Given the description of an element on the screen output the (x, y) to click on. 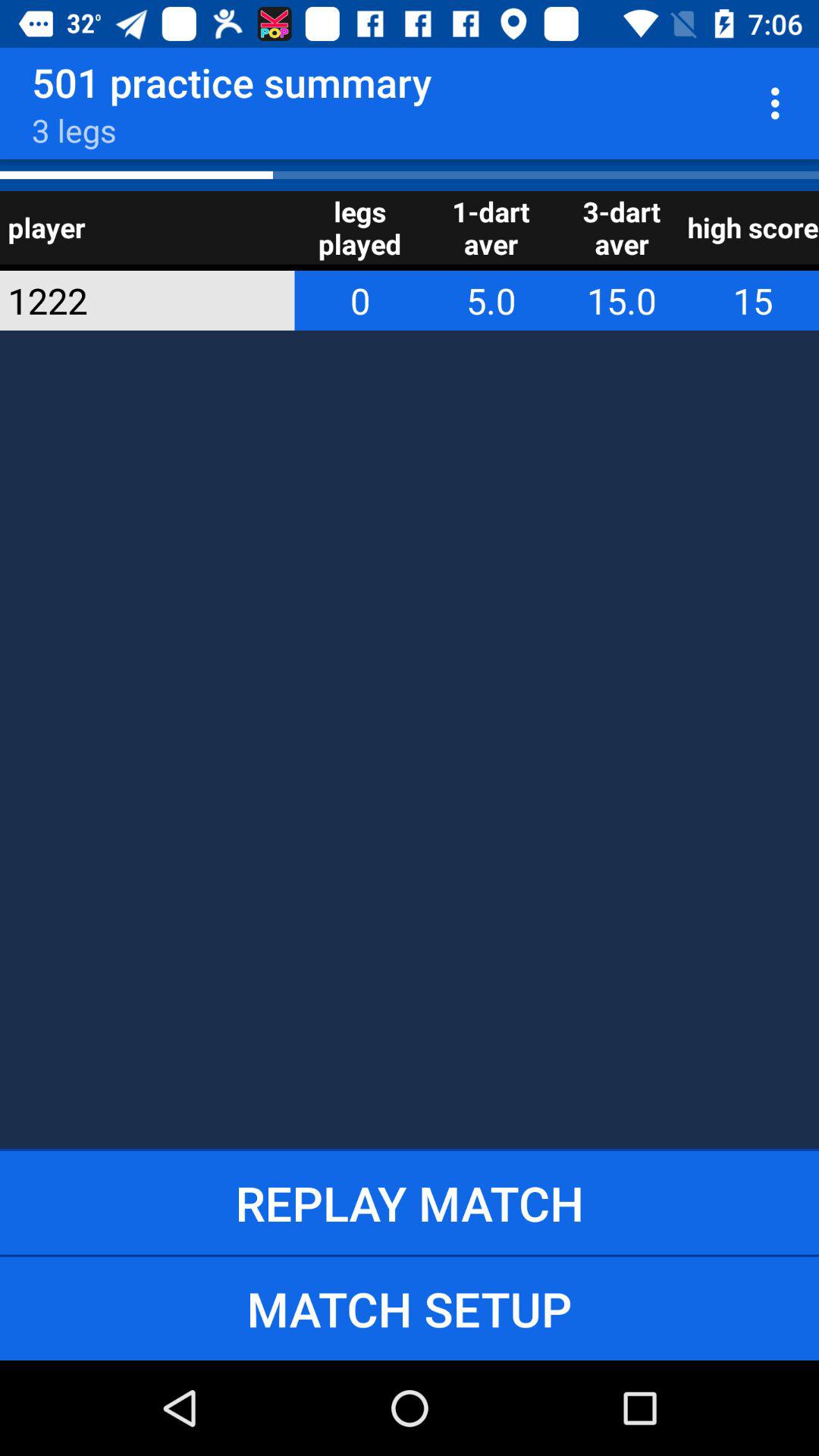
select item to the right of 501 practice summary (779, 103)
